Given the description of an element on the screen output the (x, y) to click on. 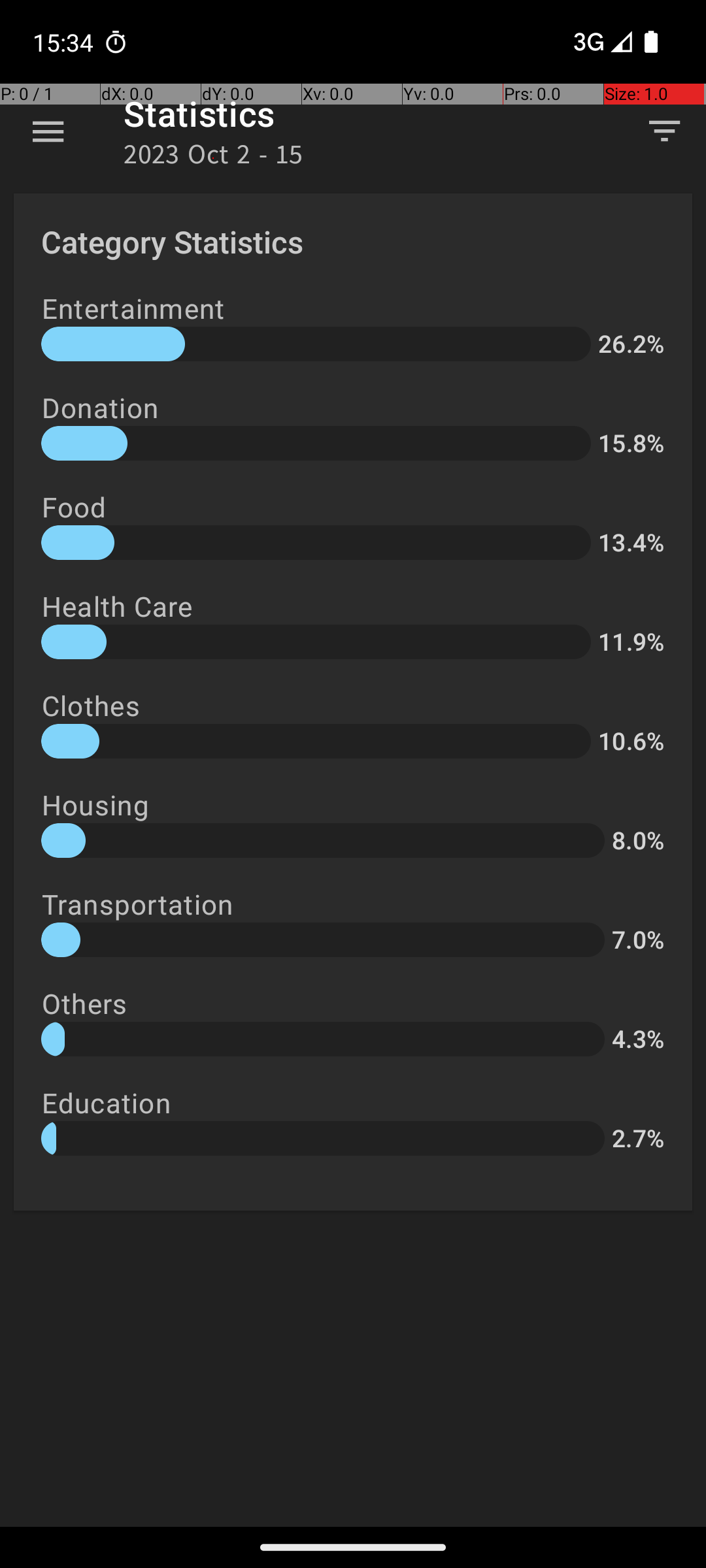
2023 Oct 2 - 15 Element type: android.widget.TextView (212, 157)
Category Statistics Element type: android.widget.TextView (172, 240)
26.2% Element type: android.widget.TextView (631, 343)
Donation Element type: android.widget.TextView (99, 406)
15.8% Element type: android.widget.TextView (631, 442)
13.4% Element type: android.widget.TextView (631, 542)
Health Care Element type: android.widget.TextView (117, 605)
11.9% Element type: android.widget.TextView (631, 641)
Clothes Element type: android.widget.TextView (90, 704)
10.6% Element type: android.widget.TextView (631, 740)
8.0% Element type: android.widget.TextView (637, 840)
7.0% Element type: android.widget.TextView (637, 939)
Others Element type: android.widget.TextView (84, 1002)
4.3% Element type: android.widget.TextView (637, 1038)
Education Element type: android.widget.TextView (106, 1102)
2.7% Element type: android.widget.TextView (637, 1138)
